Given the description of an element on the screen output the (x, y) to click on. 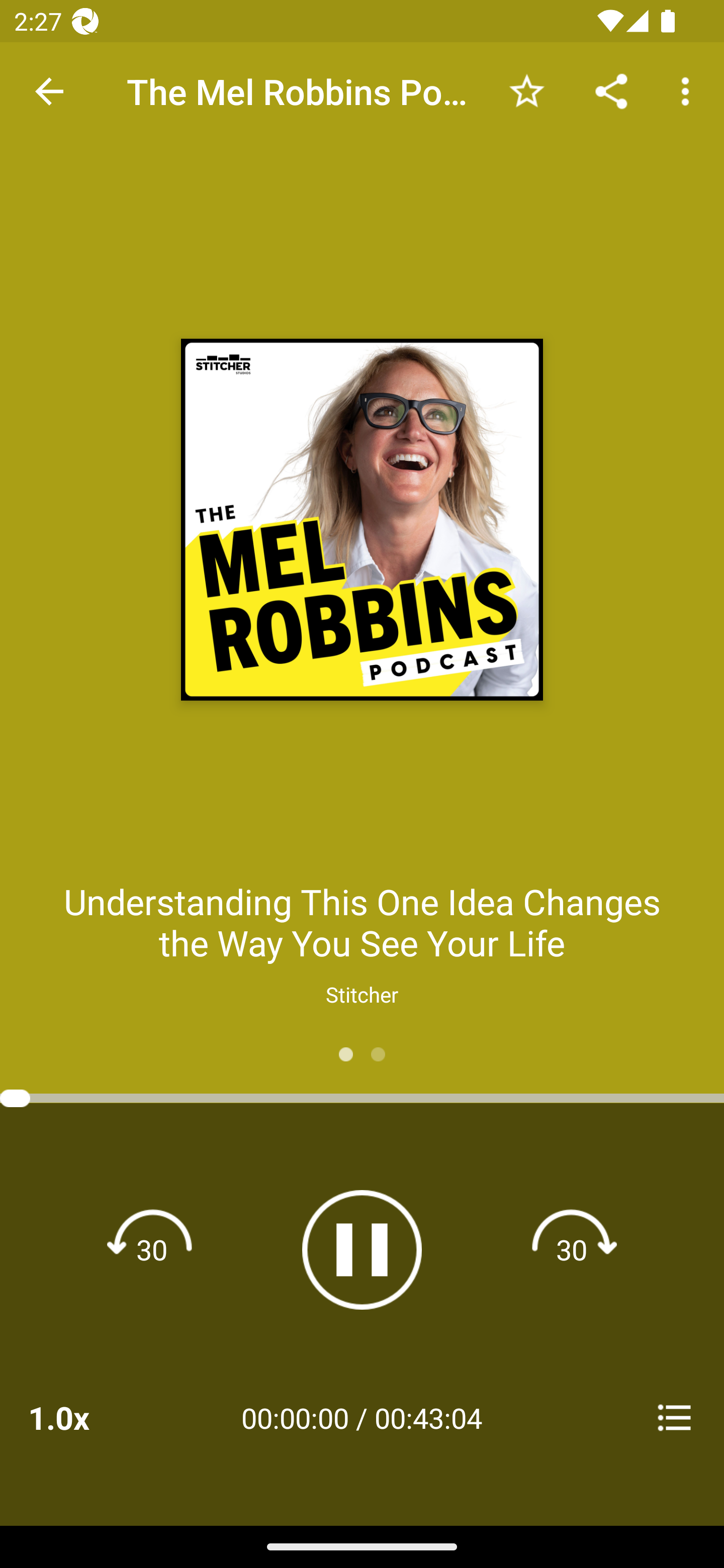
Navigate up (49, 91)
Add to Favorites (526, 90)
Share... (611, 90)
More options (688, 90)
Stitcher (361, 994)
Pause (361, 1249)
Rewind (151, 1249)
Fast forward (571, 1249)
1.0x Playback Speeds (84, 1417)
00:43:04 (428, 1417)
